Given the description of an element on the screen output the (x, y) to click on. 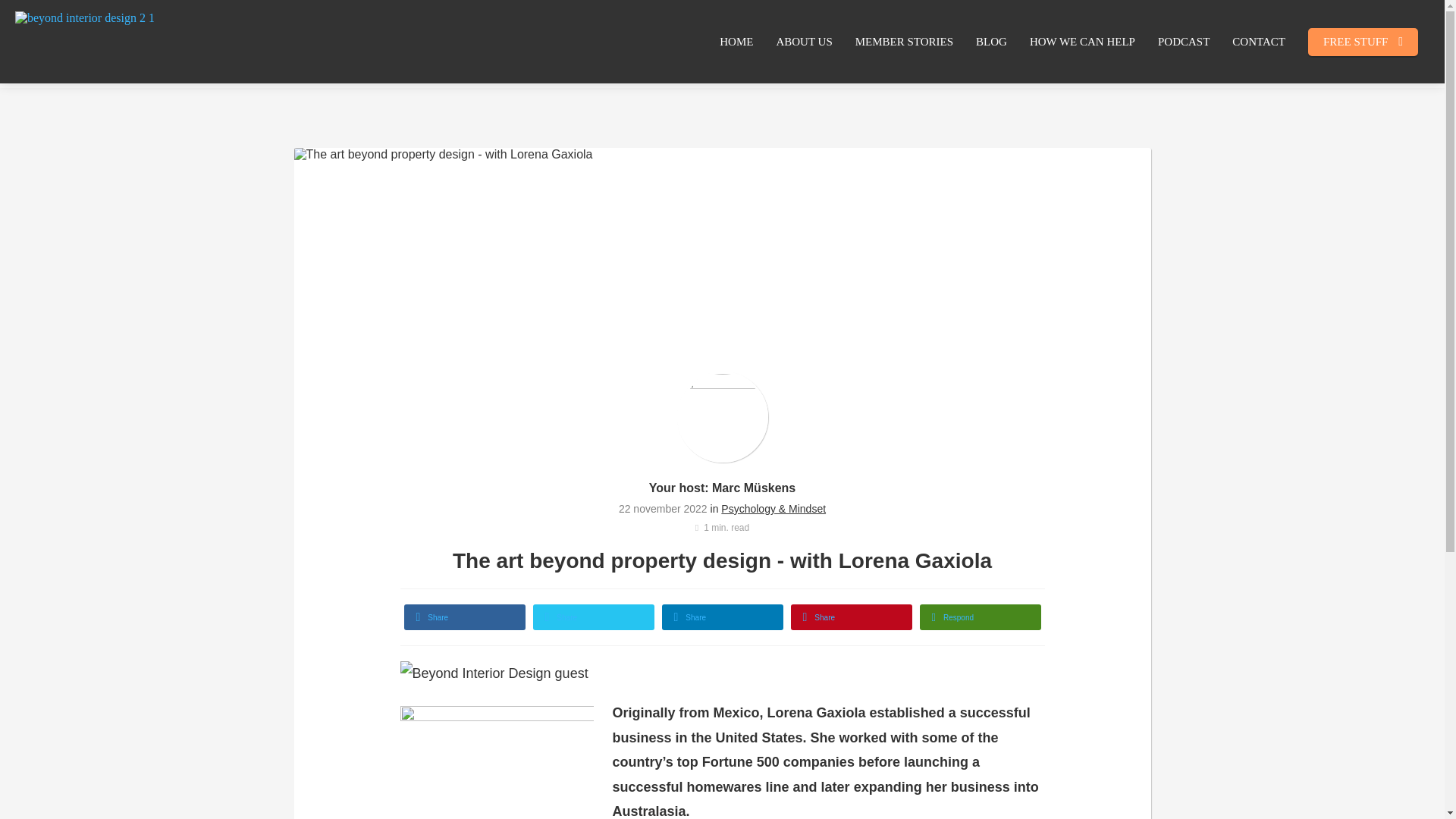
Share (722, 616)
Share (592, 616)
FREE STUFF (1363, 41)
CONTACT (1259, 41)
Beyond Interior Design guest (494, 672)
HOW WE CAN HELP (1082, 41)
HOME (735, 41)
Respond (979, 616)
Share (463, 616)
PODCAST (1184, 41)
MEMBER STORIES (903, 41)
ABOUT US (803, 41)
BLOG (990, 41)
Share (850, 616)
